Given the description of an element on the screen output the (x, y) to click on. 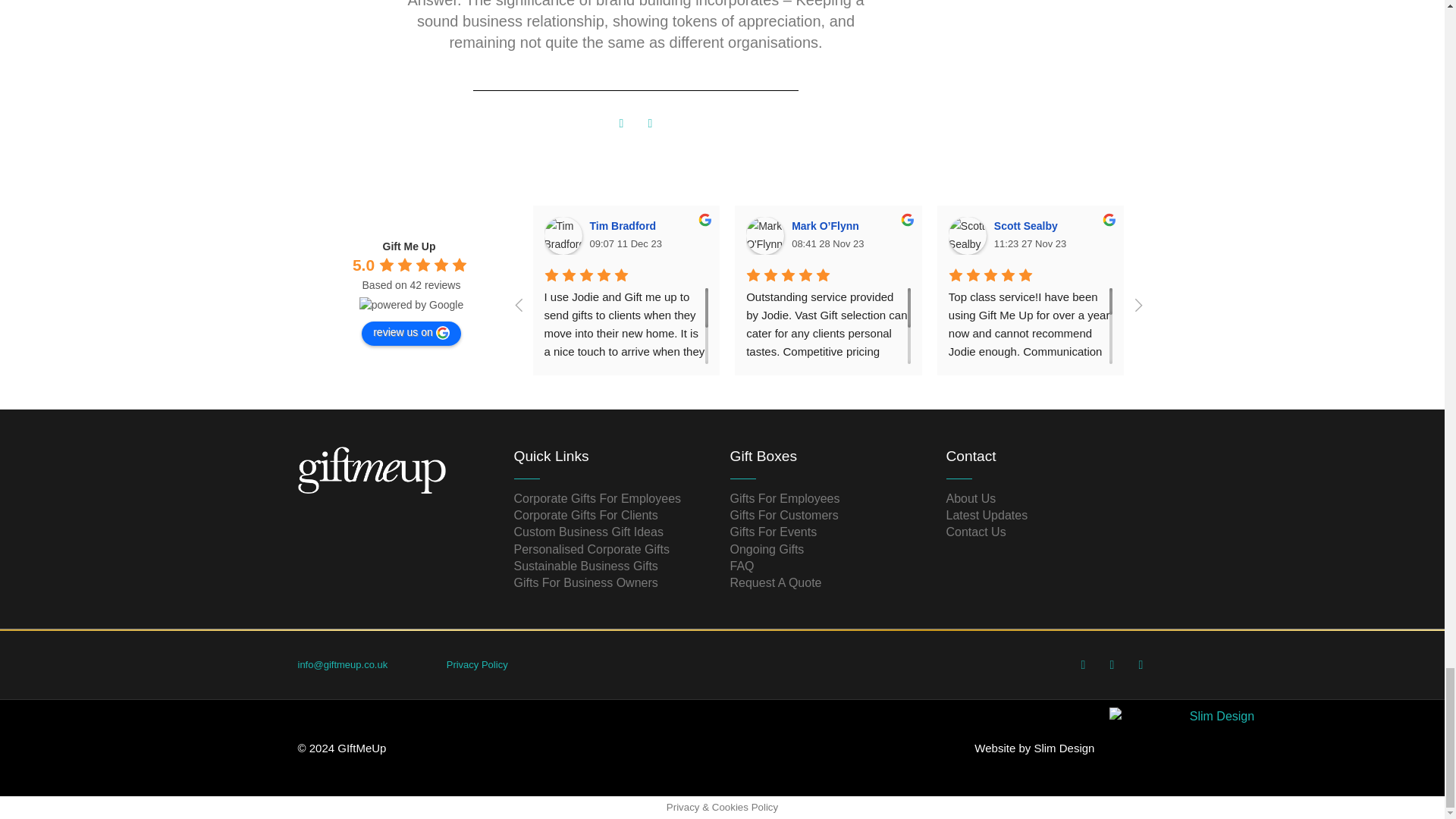
Mark O'Flynn (764, 235)
Scott Sealby (968, 235)
powered by Google (411, 304)
Darren Sharpe (1169, 235)
Tanyel Ozcan (1371, 235)
Tim Bradford (563, 235)
